Given the description of an element on the screen output the (x, y) to click on. 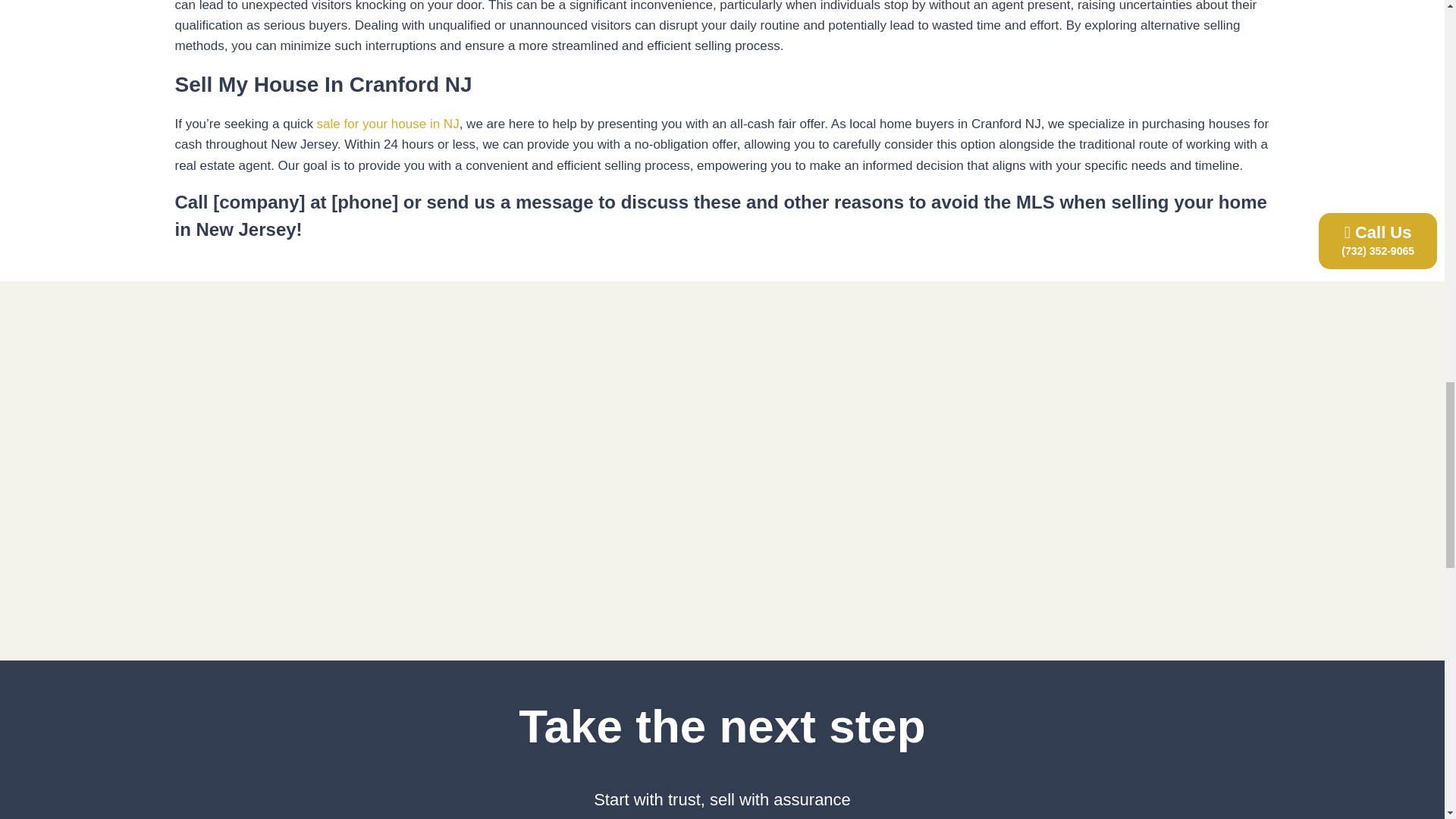
send us a message (510, 201)
sale for your house in NJ (388, 124)
avoid the MLS when selling your home (1098, 201)
